Given the description of an element on the screen output the (x, y) to click on. 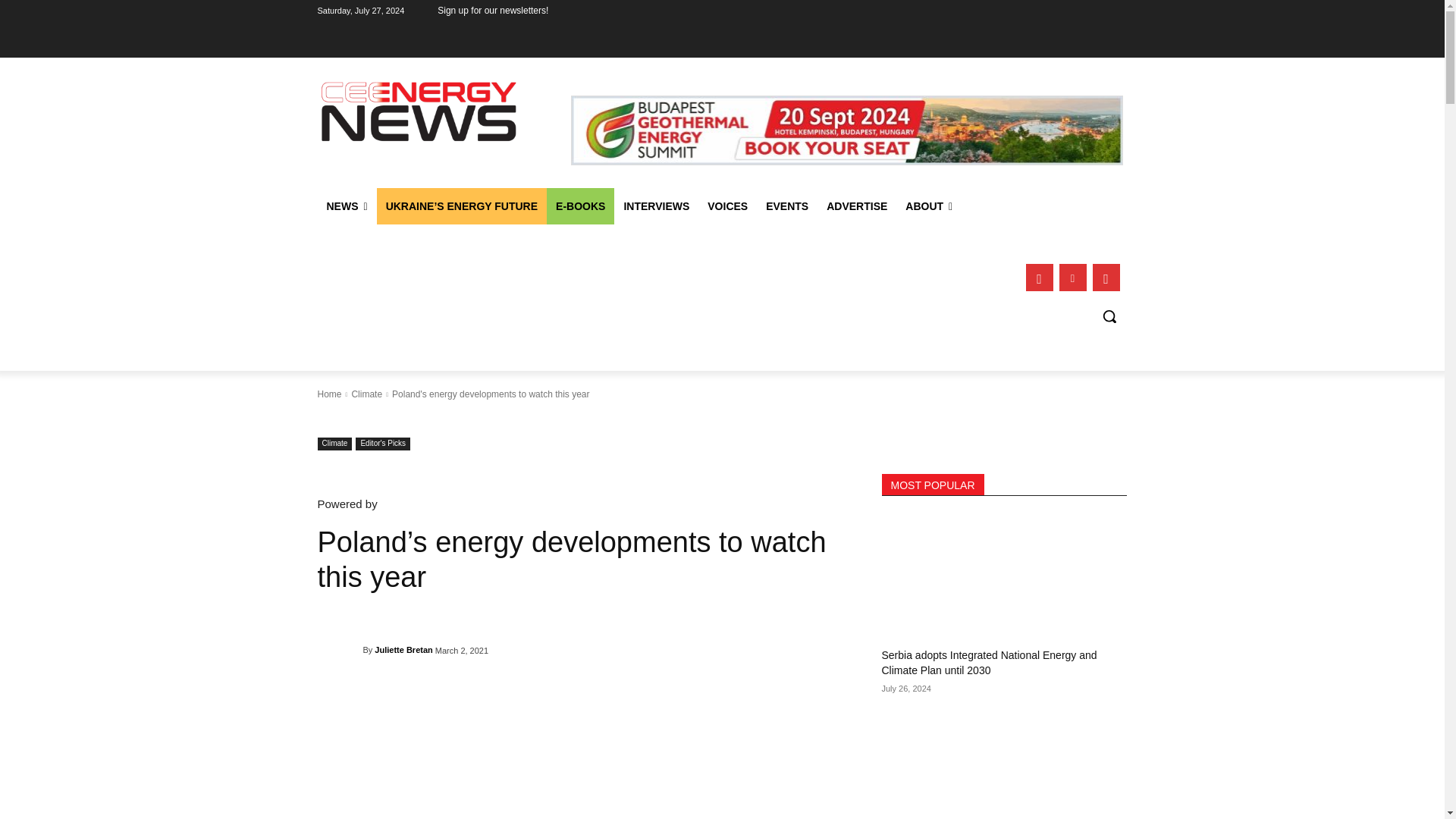
View all posts in Climate (365, 394)
Twitter (1105, 277)
Linkedin (1072, 277)
CEENERGYNEWS logo (418, 111)
Facebook (1038, 277)
Sign up for our newsletters! (492, 10)
NEWS (346, 206)
Juliette Bretan (339, 649)
